Given the description of an element on the screen output the (x, y) to click on. 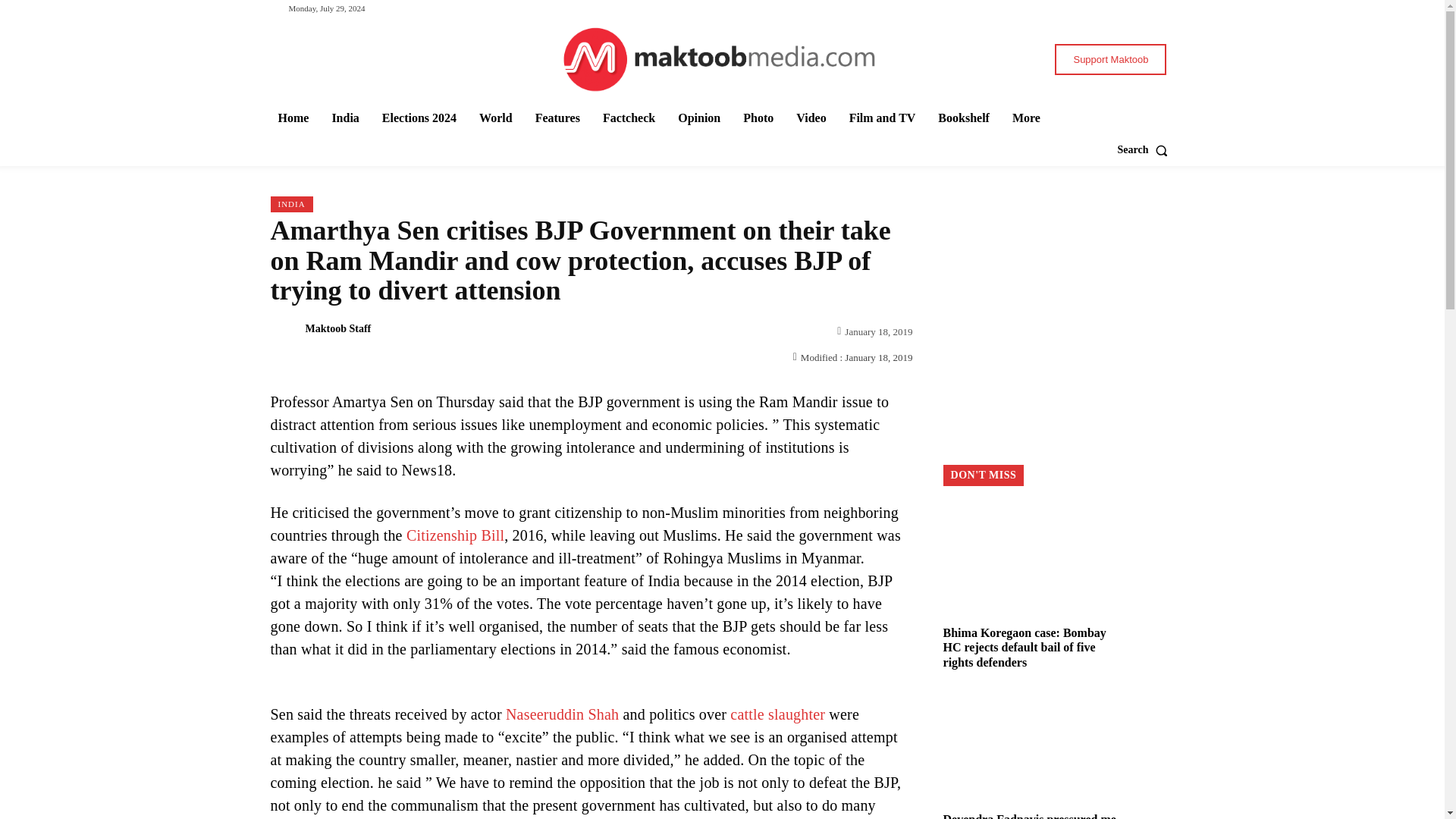
Elections 2024 (419, 118)
World (495, 118)
Home (292, 118)
Maktoob Staff (283, 328)
India (344, 118)
Support Maktoob (1110, 59)
maktoob media (721, 58)
Support Maktoob (1110, 59)
